Given the description of an element on the screen output the (x, y) to click on. 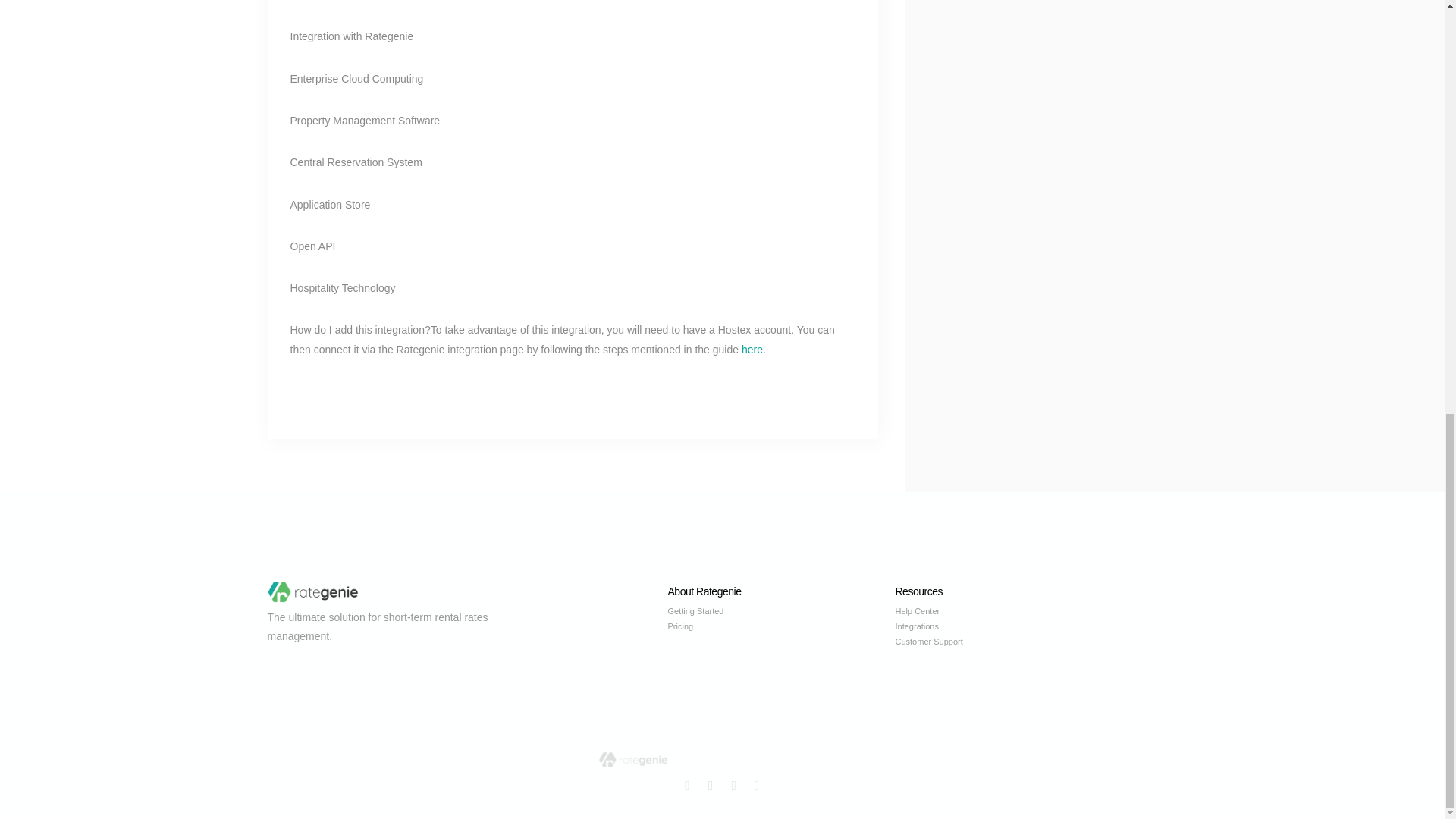
Pricing (780, 626)
Help Center (1008, 611)
Customer Support (1008, 642)
here (751, 349)
Integrations (1008, 626)
Getting Started (780, 611)
